Given the description of an element on the screen output the (x, y) to click on. 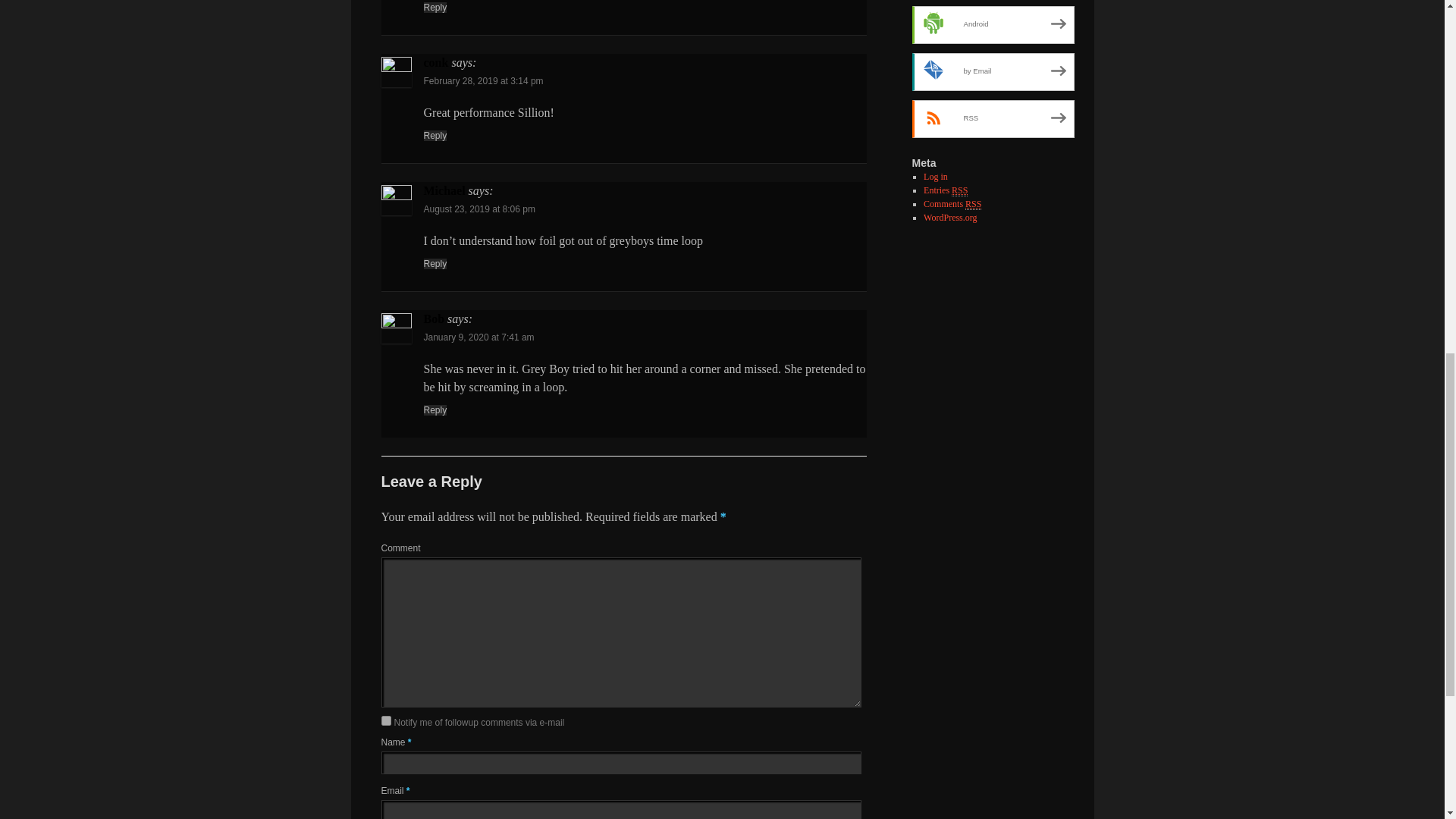
Subscribe on Android (992, 24)
February 28, 2019 at 3:14 pm (483, 81)
Reply (434, 7)
Subscribe by Email (992, 71)
Really Simple Syndication (973, 204)
Reply (434, 409)
Subscribe via RSS (992, 118)
subscribe (385, 720)
January 9, 2020 at 7:41 am (478, 337)
August 23, 2019 at 8:06 pm (478, 208)
Reply (434, 135)
Reply (434, 263)
Really Simple Syndication (960, 190)
